Given the description of an element on the screen output the (x, y) to click on. 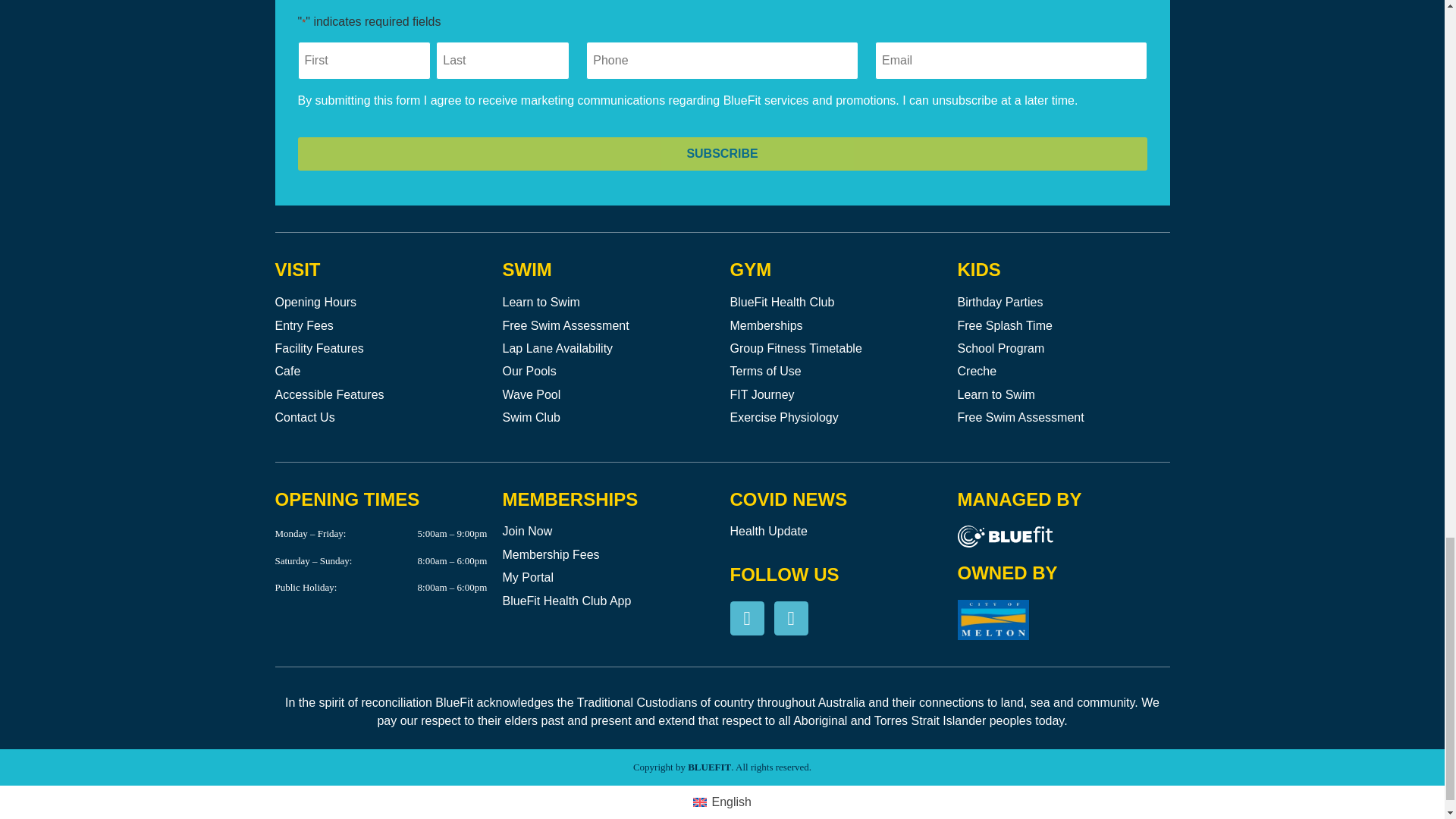
MCC-logo (991, 618)
Subscribe (722, 153)
